Given the description of an element on the screen output the (x, y) to click on. 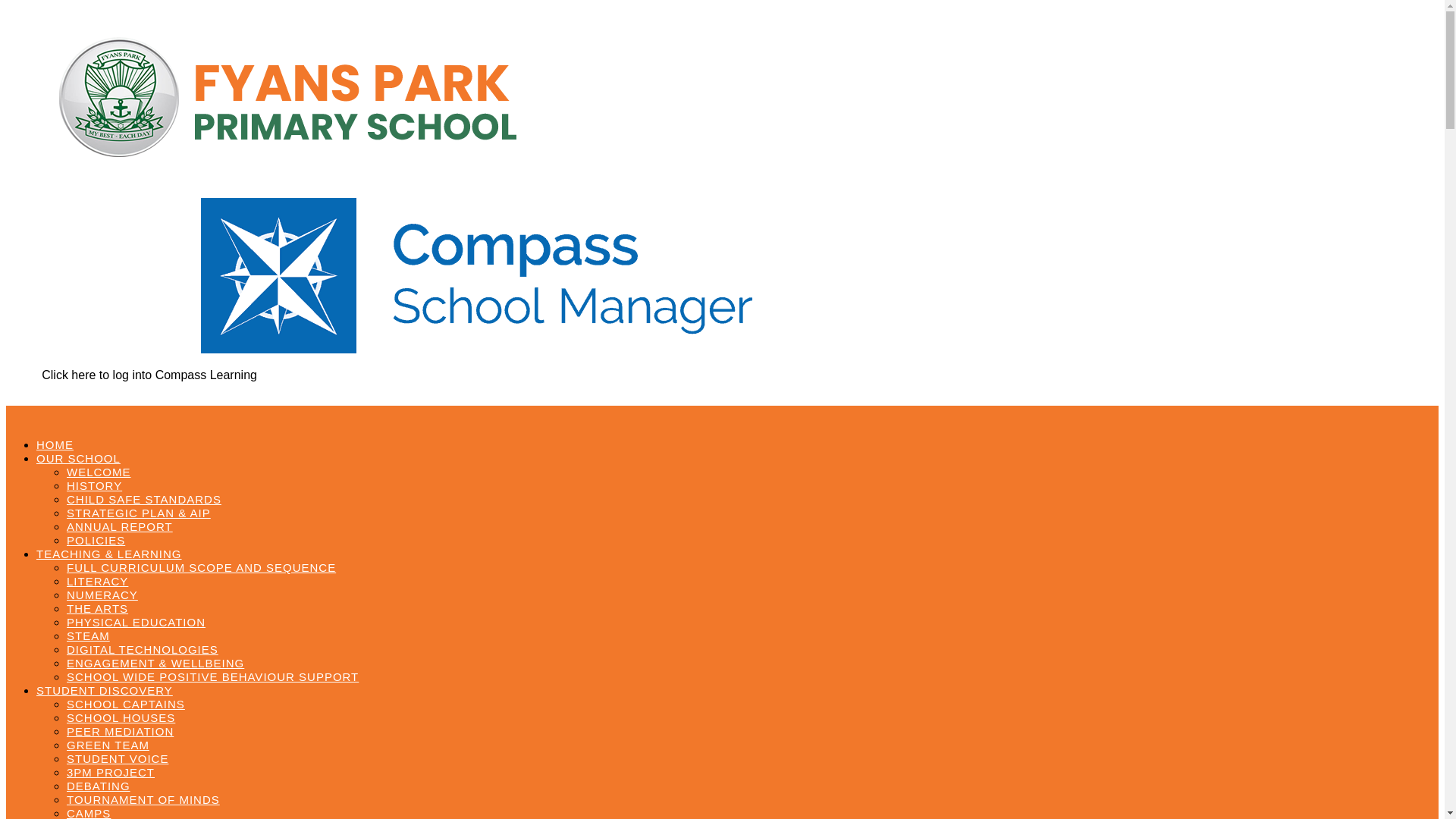
HISTORY (94, 485)
STUDENT VOICE (117, 758)
ANNUAL REPORT (119, 526)
OUR SCHOOL (78, 458)
GREEN TEAM (107, 744)
TOURNAMENT OF MINDS (142, 799)
fyans-park-primary-logo-desktop (293, 101)
STUDENT DISCOVERY (104, 689)
CHILD SAFE STANDARDS (143, 499)
WELCOME (98, 472)
SCHOOL WIDE POSITIVE BEHAVIOUR SUPPORT (212, 676)
SCHOOL HOUSES (120, 717)
POLICIES (95, 540)
LITERACY (97, 581)
HOME (55, 444)
